Given the description of an element on the screen output the (x, y) to click on. 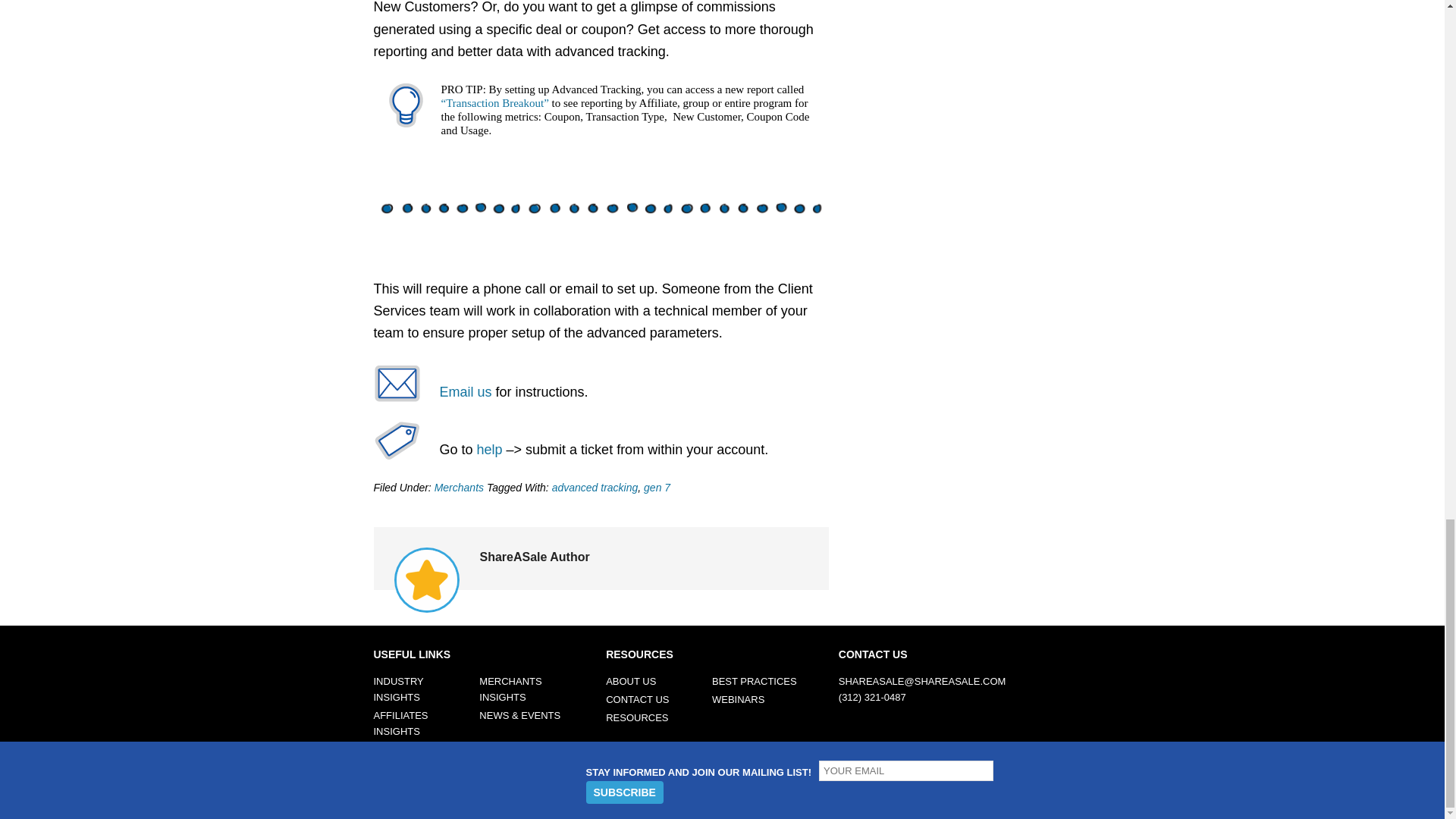
gen 7 (656, 487)
Merchants (458, 487)
Email us (465, 391)
advanced tracking (595, 487)
help (489, 449)
